Given the description of an element on the screen output the (x, y) to click on. 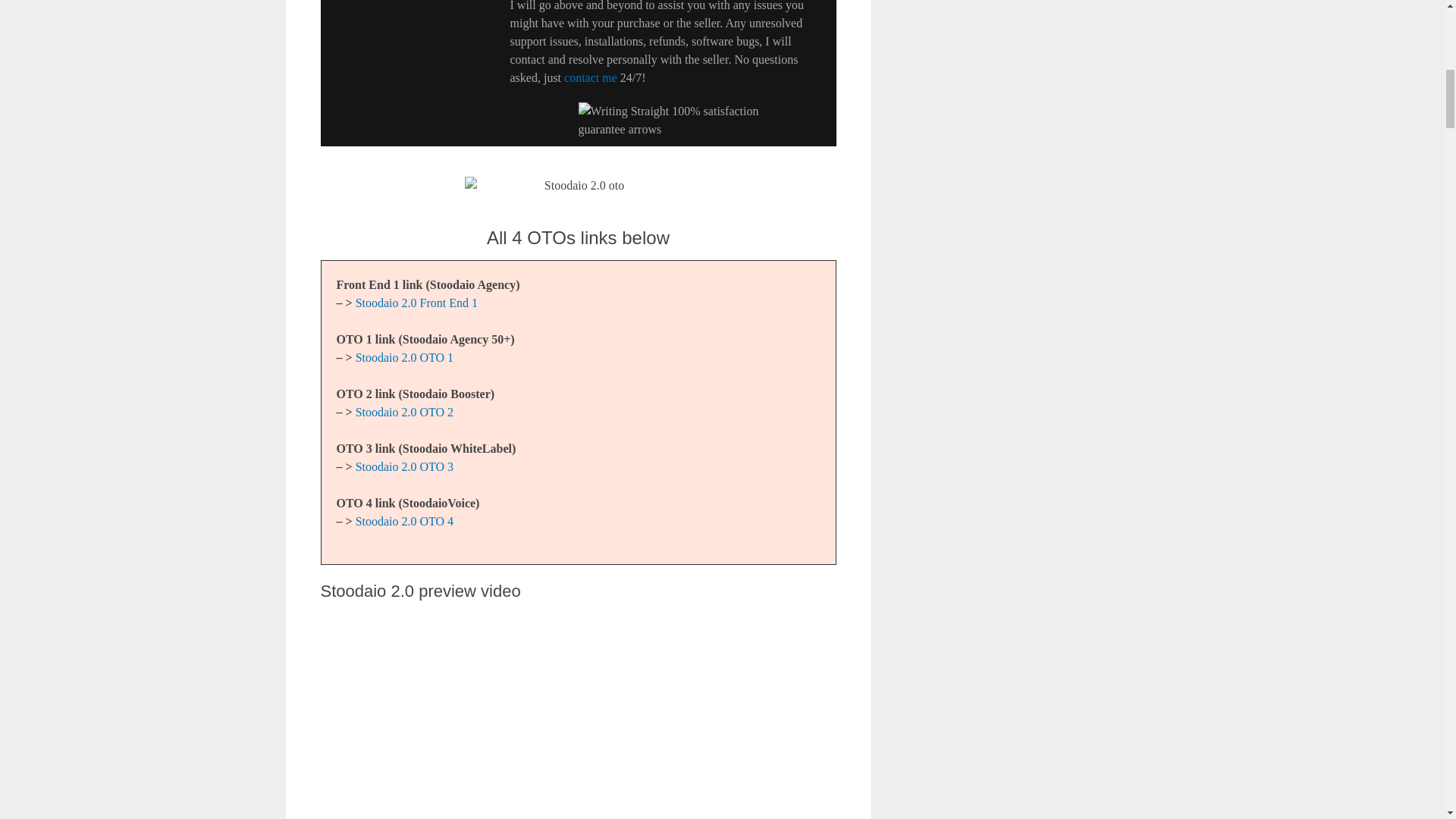
Stoodaio 2.0 OTO 4 (403, 521)
Stoodaio 2.0 OTO 1 (403, 357)
Stoodaio 2.0 OTO 2 (403, 411)
contact me (590, 77)
Stoodaio 2.0 OTO 3 (403, 466)
Stoodaio 2.0 Front End 1 (416, 302)
Stoodaio 2.0 oto (577, 185)
